Given the description of an element on the screen output the (x, y) to click on. 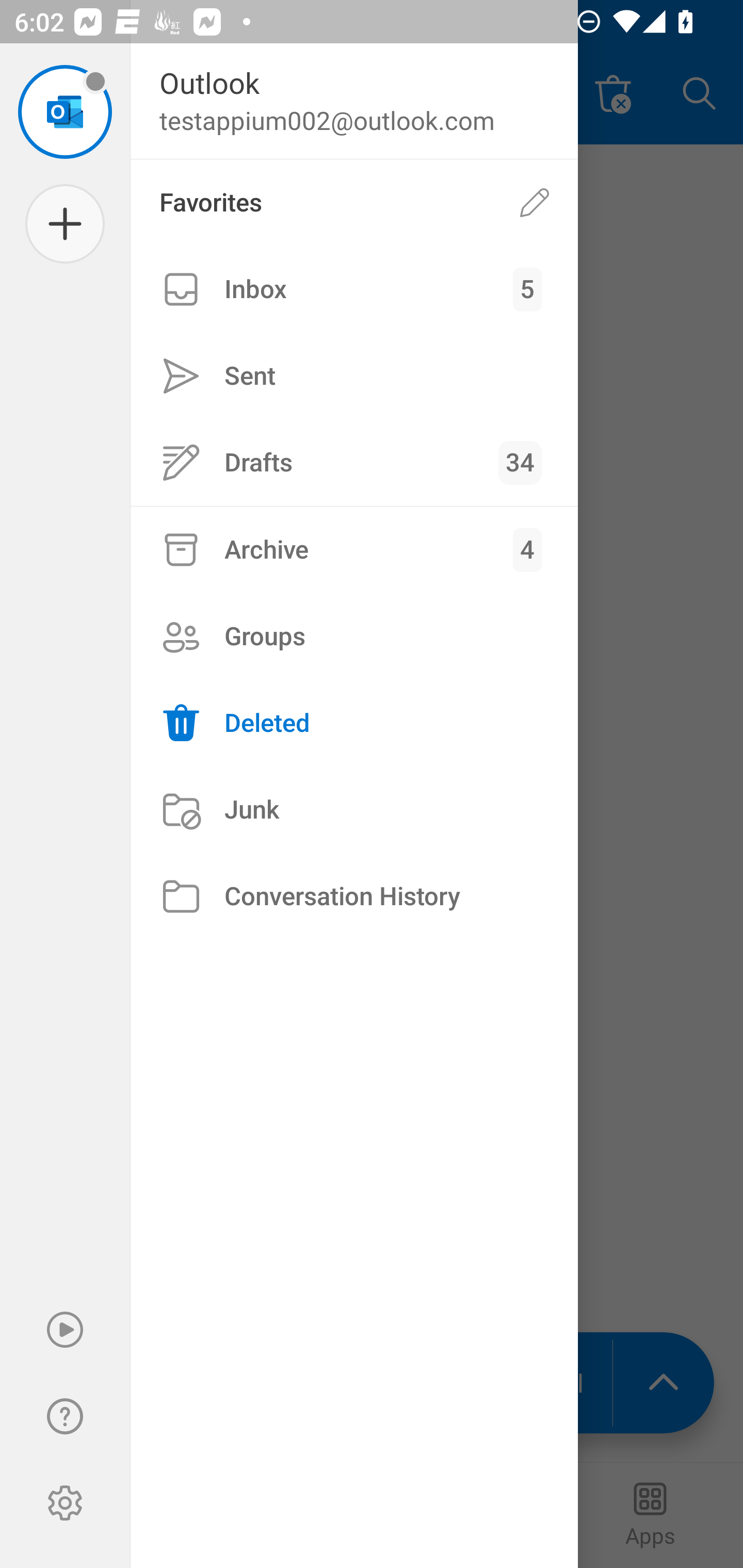
testappium002@outlook.com (64, 111)
Edit favorites (534, 202)
Add account (64, 224)
Inbox Inbox, 5 unread emails (354, 289)
Sent (354, 375)
Drafts Drafts, 34 unread emails (354, 462)
Archive Archive, 2 of 6, level 1, 4 unread emails (354, 549)
Groups Groups, 3 of 6, level 1 (354, 636)
Deleted Deleted, 4 of 6, level 1,Selected (354, 723)
Junk Junk, 5 of 6, level 1 (354, 809)
Play My Emails (64, 1329)
Help (64, 1416)
Settings (64, 1502)
